Given the description of an element on the screen output the (x, y) to click on. 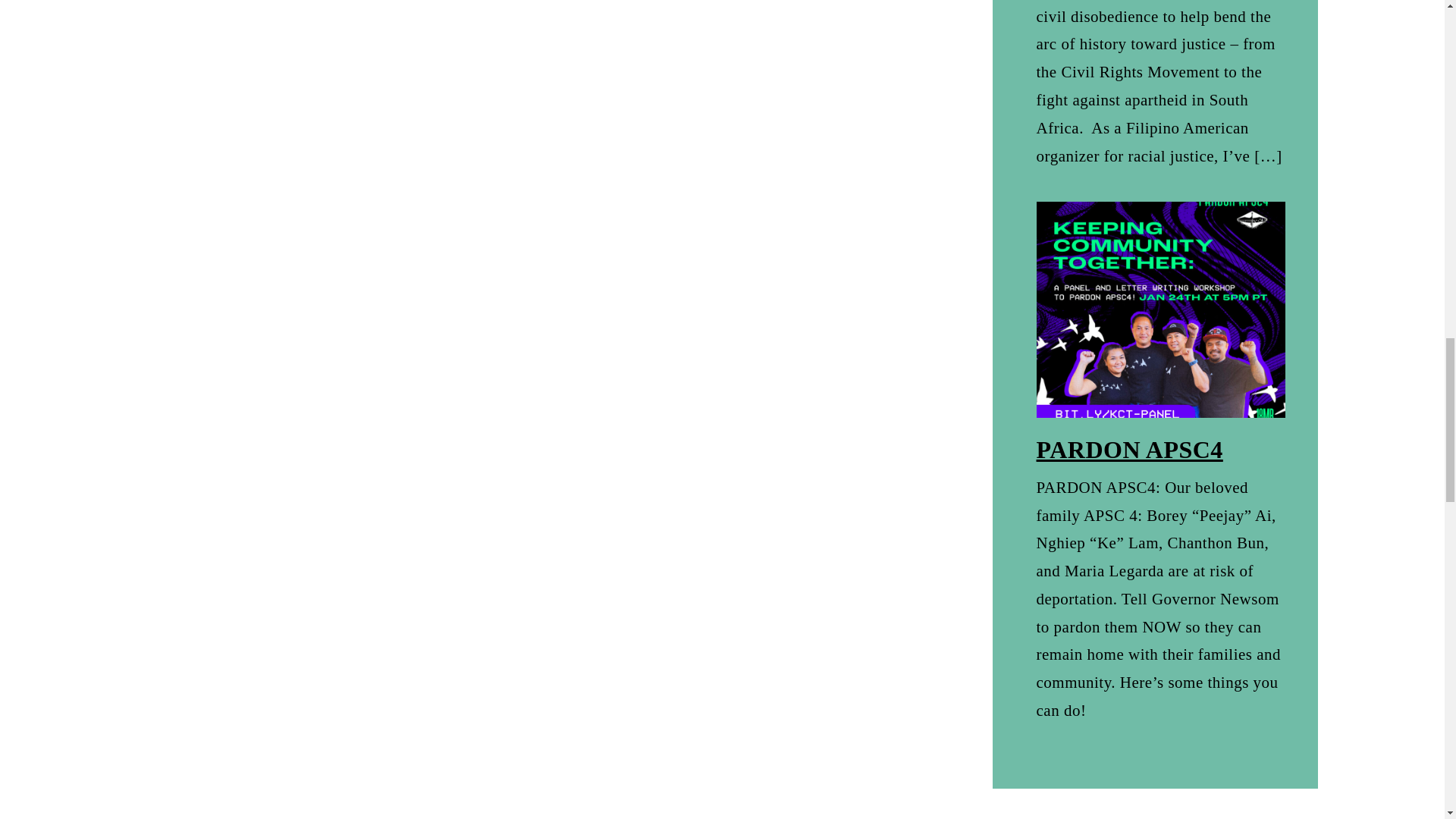
PARDON APSC4 (1129, 449)
